Given the description of an element on the screen output the (x, y) to click on. 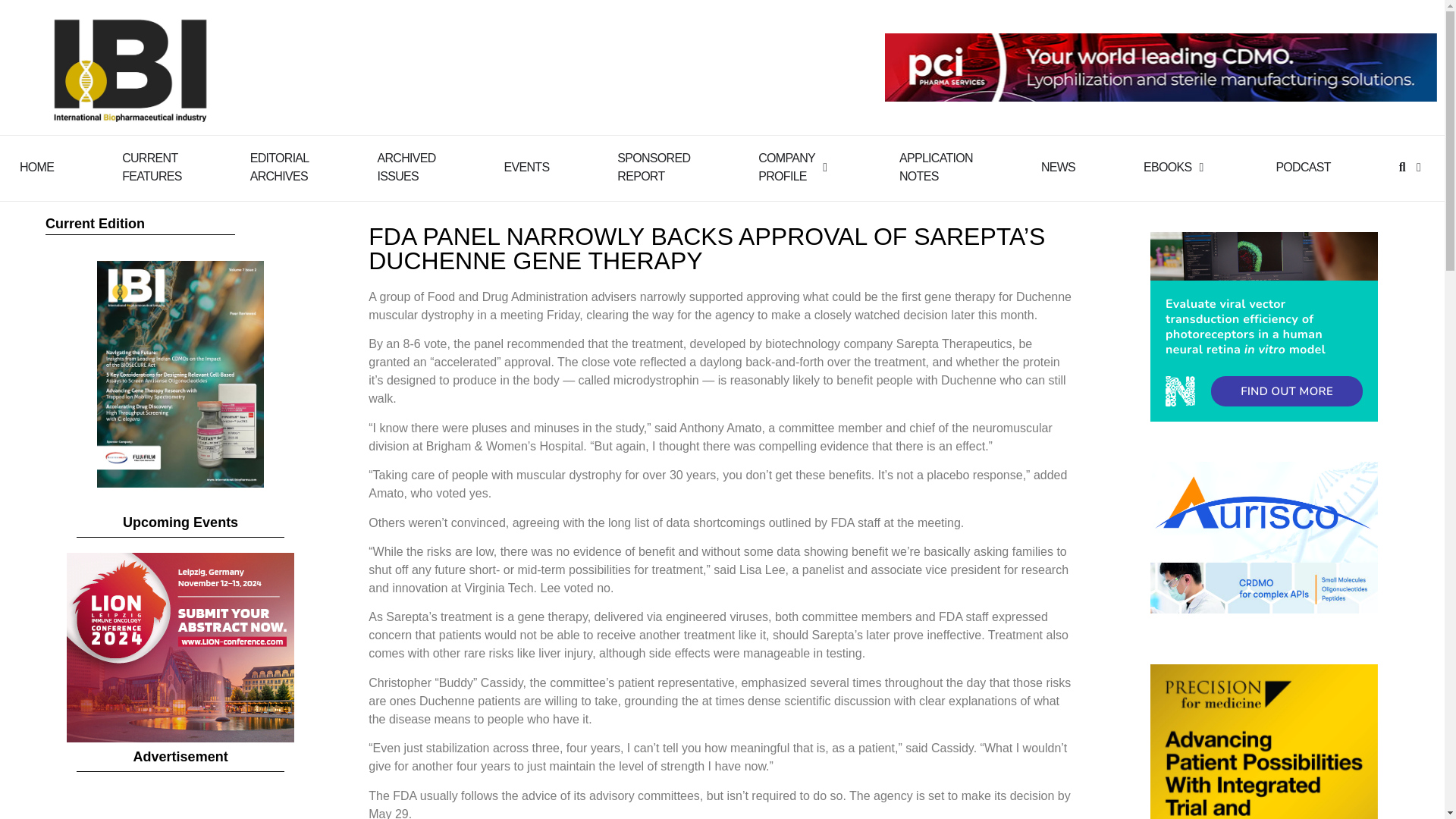
HOME (786, 167)
NEWS (36, 167)
EVENTS (653, 167)
PODCAST (1058, 167)
